Given the description of an element on the screen output the (x, y) to click on. 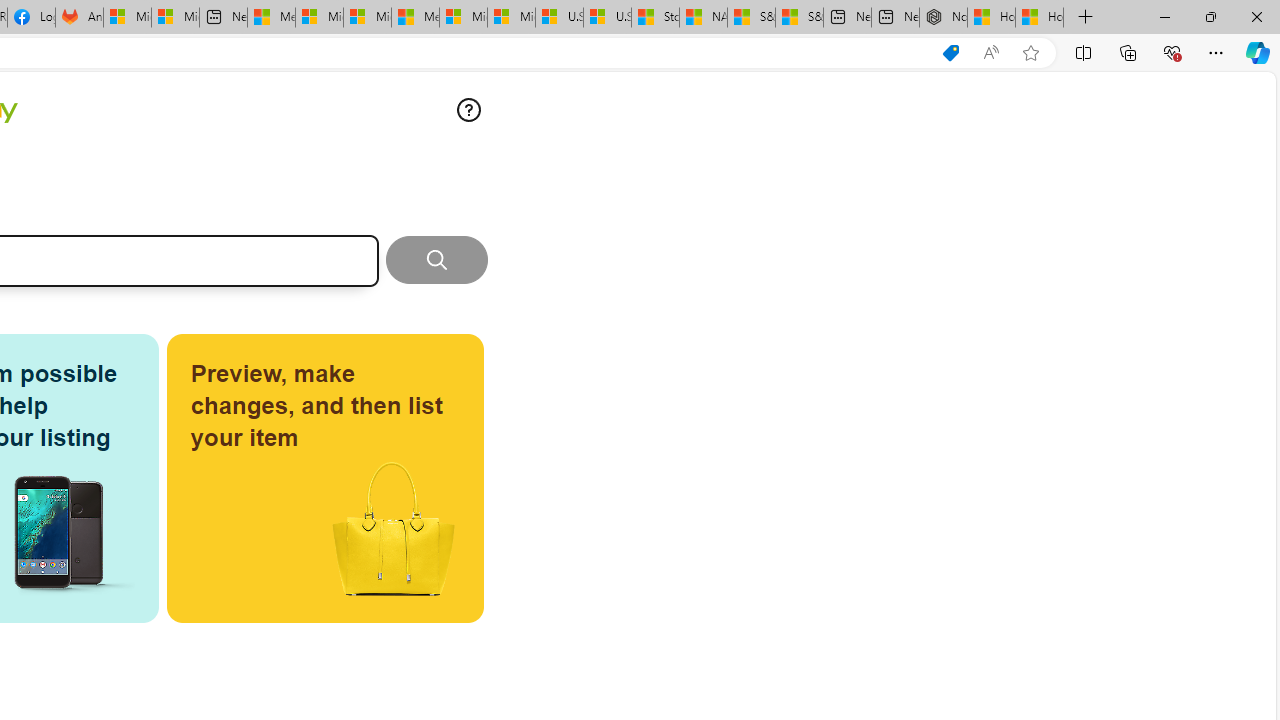
S&P 500, Nasdaq end lower, weighed by Nvidia dip | Watch (799, 17)
How to Use a Monitor With Your Closed Laptop (1039, 17)
Comment about your experience on this page. (468, 110)
This site has coupons! Shopping in Microsoft Edge (950, 53)
Microsoft account | Privacy (319, 17)
